Given the description of an element on the screen output the (x, y) to click on. 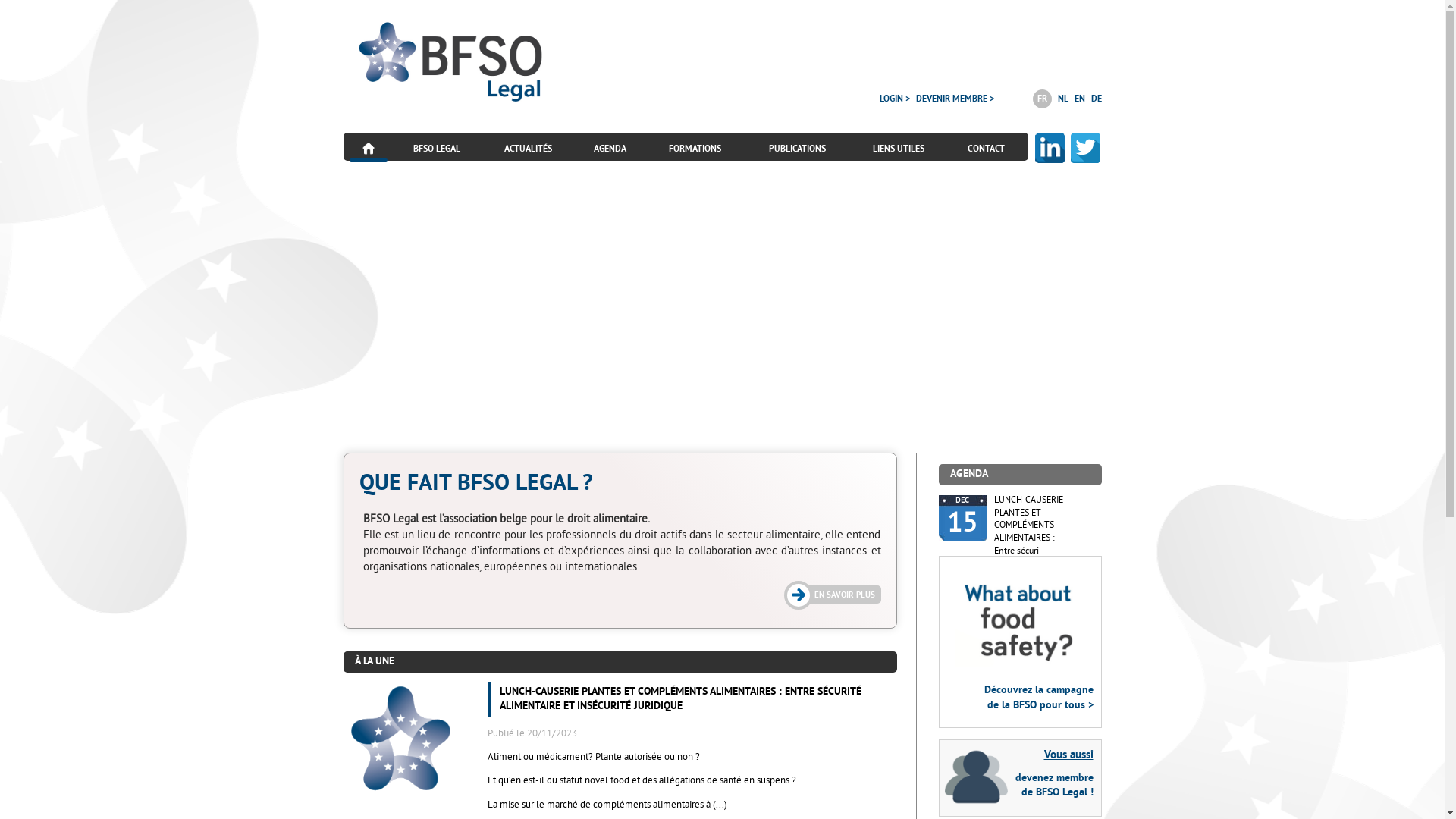
FORMATIONS Element type: text (694, 149)
LOGIN > Element type: text (894, 99)
LIENS UTILES Element type: text (898, 149)
Se connecter Element type: text (896, 208)
EN SAVOIR PLUS Element type: text (834, 595)
Vous aussi
devenez membre
de BFSO Legal ! Element type: text (1019, 777)
BFSO LEGAL Element type: text (436, 149)
PUBLICATIONS Element type: text (796, 149)
CONTACT Element type: text (985, 149)
DEVENIR MEMBRE > Element type: text (955, 99)
AGENDA Element type: text (609, 149)
